Given the description of an element on the screen output the (x, y) to click on. 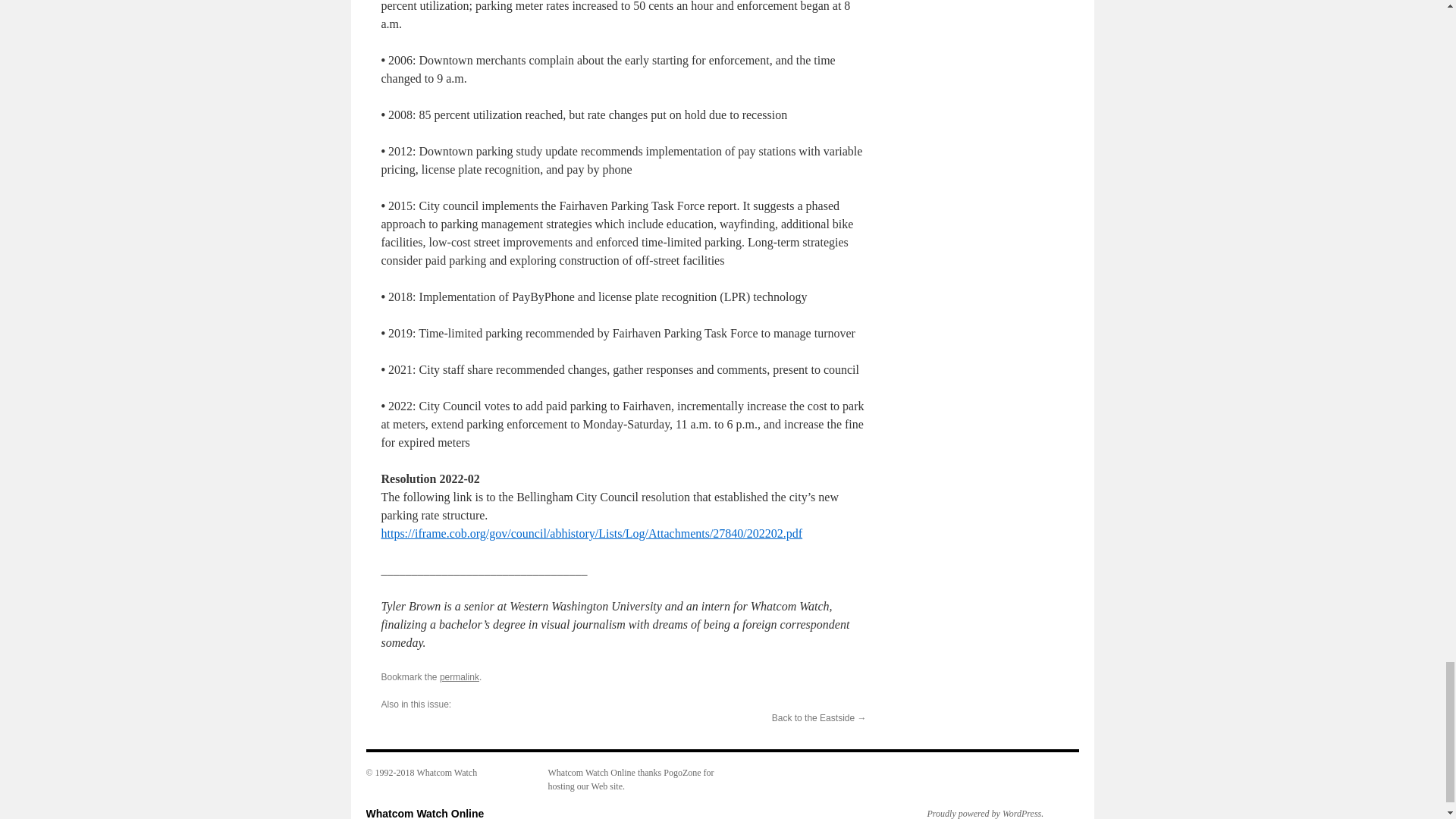
permalink (459, 676)
Page 1 (623, 624)
Back to the Eastside (812, 717)
